Given the description of an element on the screen output the (x, y) to click on. 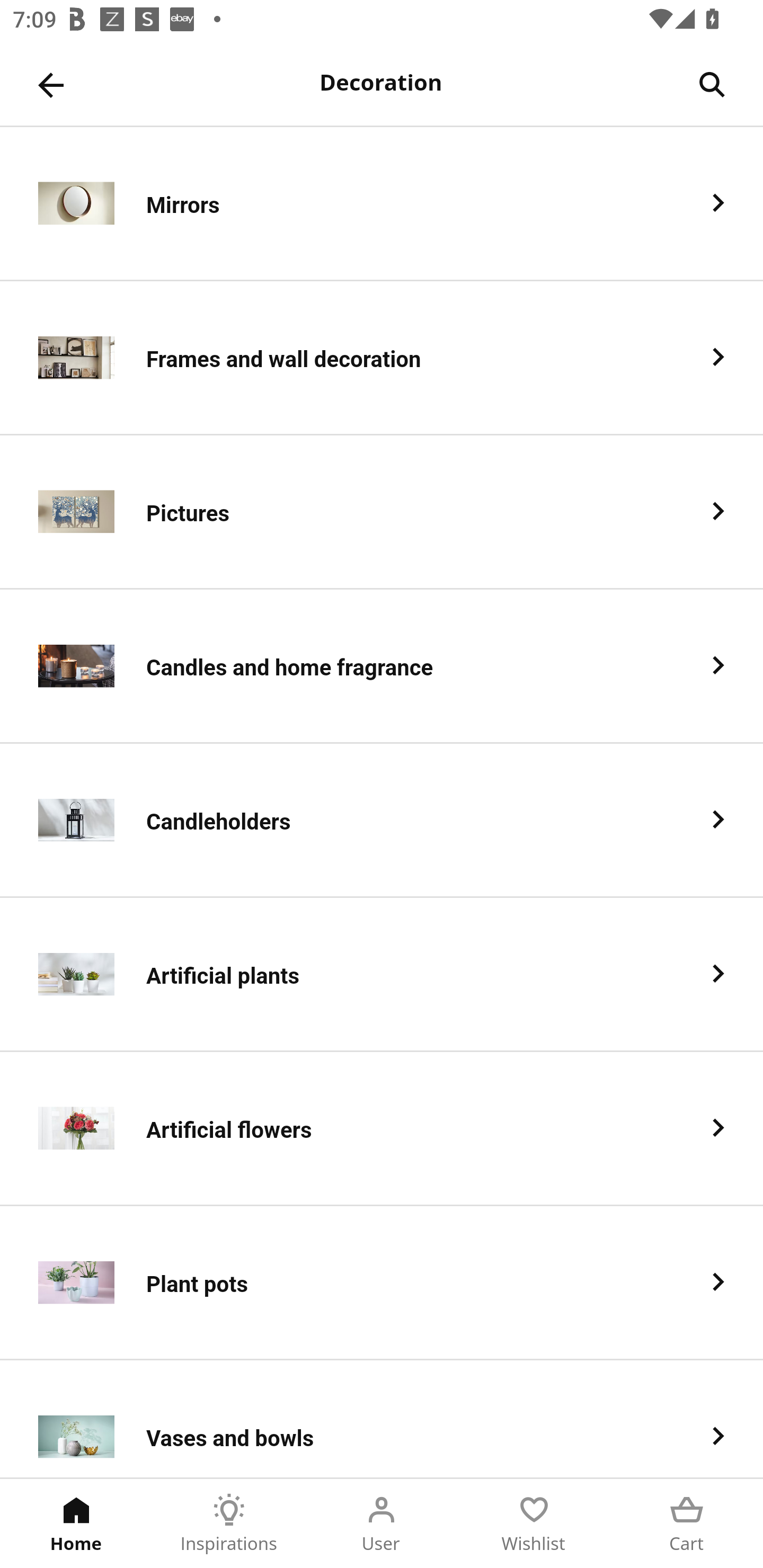
Mirrors (381, 203)
Frames and wall decoration (381, 357)
Pictures (381, 512)
Candles and home fragrance (381, 666)
Candleholders (381, 820)
Artificial plants (381, 975)
Artificial flowers (381, 1128)
Plant pots (381, 1283)
Vases and bowls (381, 1419)
Home
Tab 1 of 5 (76, 1522)
Inspirations
Tab 2 of 5 (228, 1522)
User
Tab 3 of 5 (381, 1522)
Wishlist
Tab 4 of 5 (533, 1522)
Cart
Tab 5 of 5 (686, 1522)
